Given the description of an element on the screen output the (x, y) to click on. 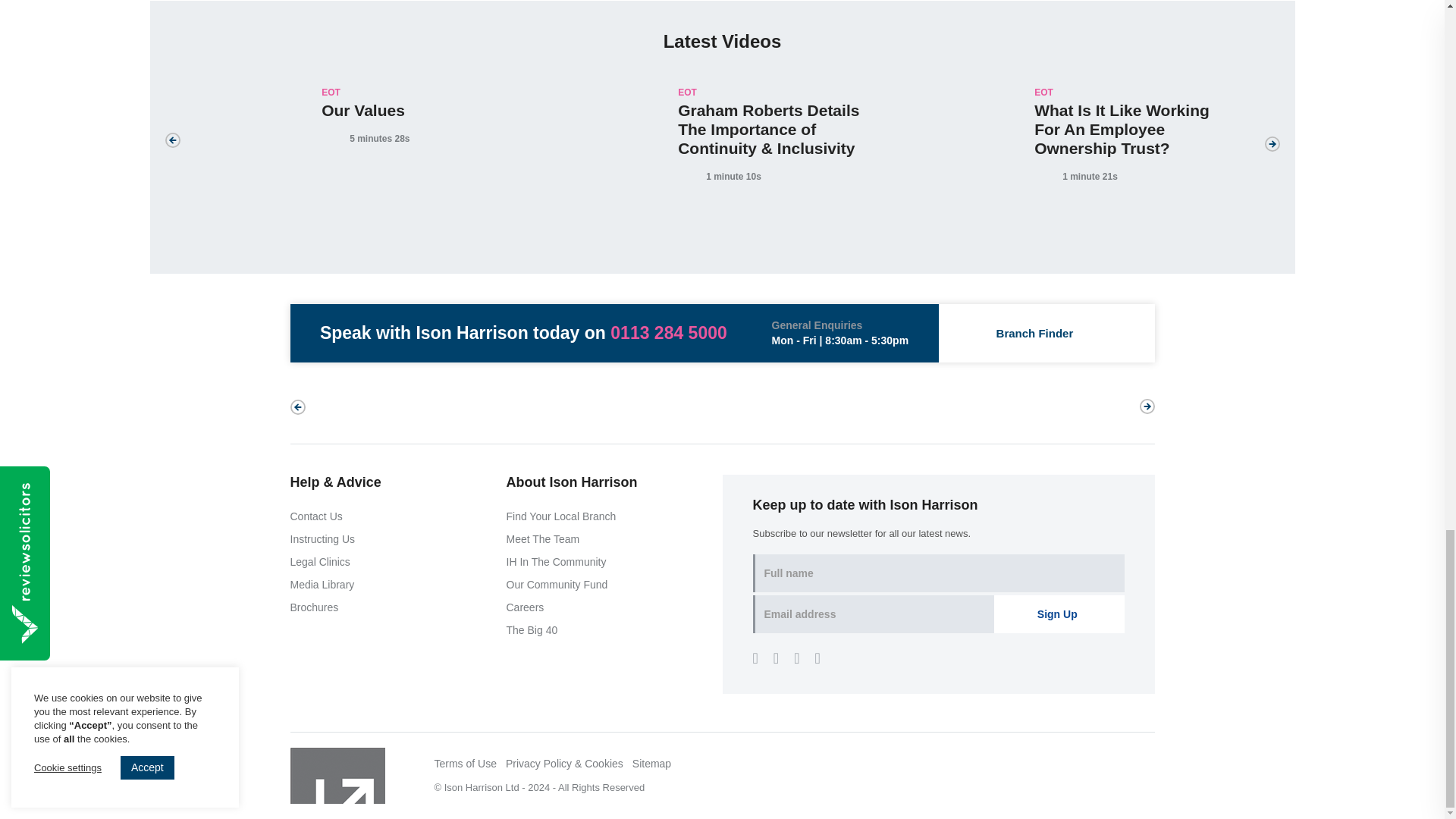
Sign up (1059, 614)
